Given the description of an element on the screen output the (x, y) to click on. 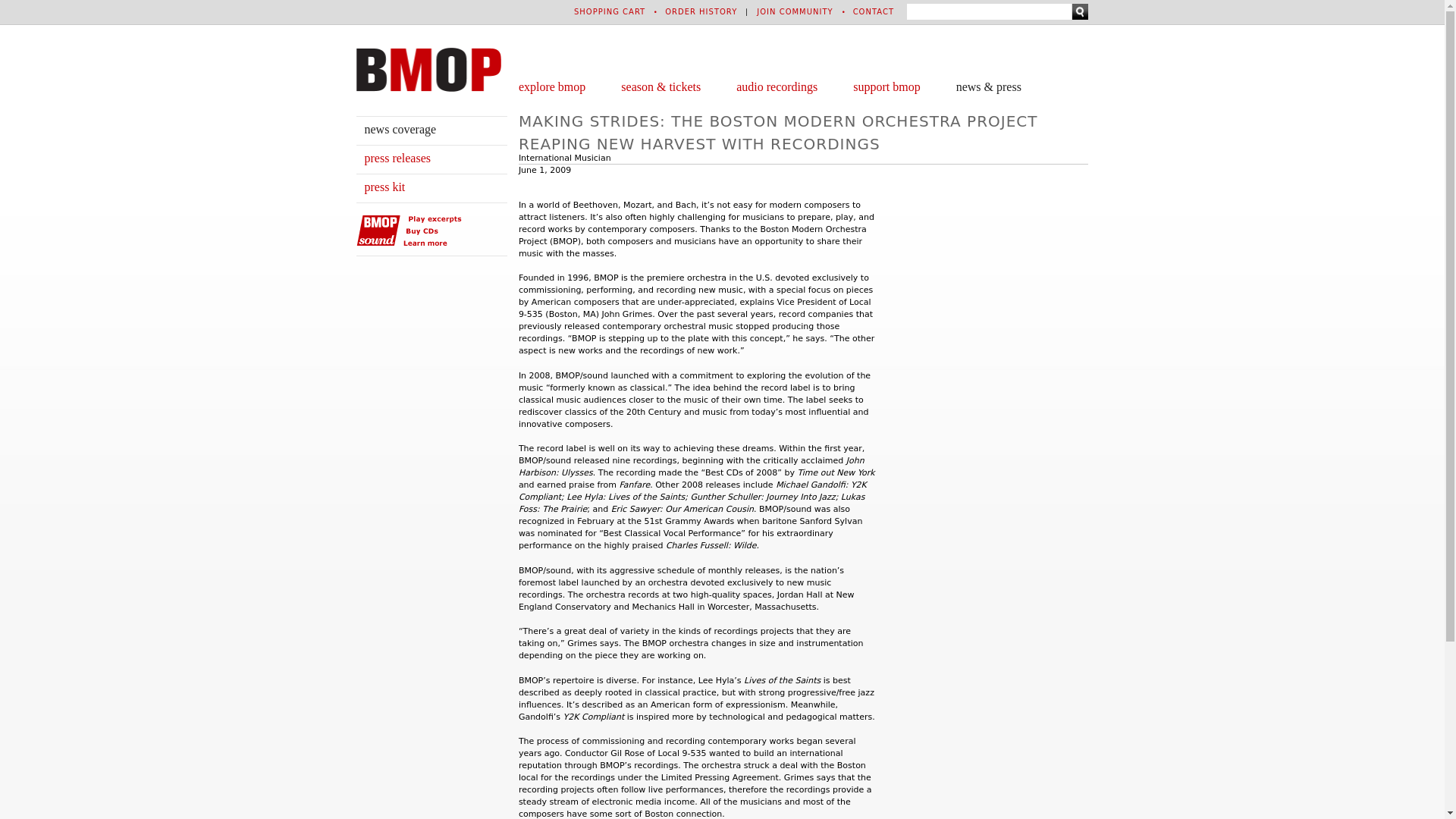
press releases (397, 157)
Support BMOP (886, 87)
news coverage (399, 128)
ORDER HISTORY (700, 11)
Search (1079, 11)
CONTACT (873, 11)
support bmop (886, 87)
press kit (384, 186)
audio recordings (776, 87)
SHOPPING CART (609, 11)
Press Kit (384, 186)
JOIN COMMUNITY (794, 11)
Home (428, 69)
explore bmop (551, 87)
Enter the terms you wish to search for. (989, 11)
